Given the description of an element on the screen output the (x, y) to click on. 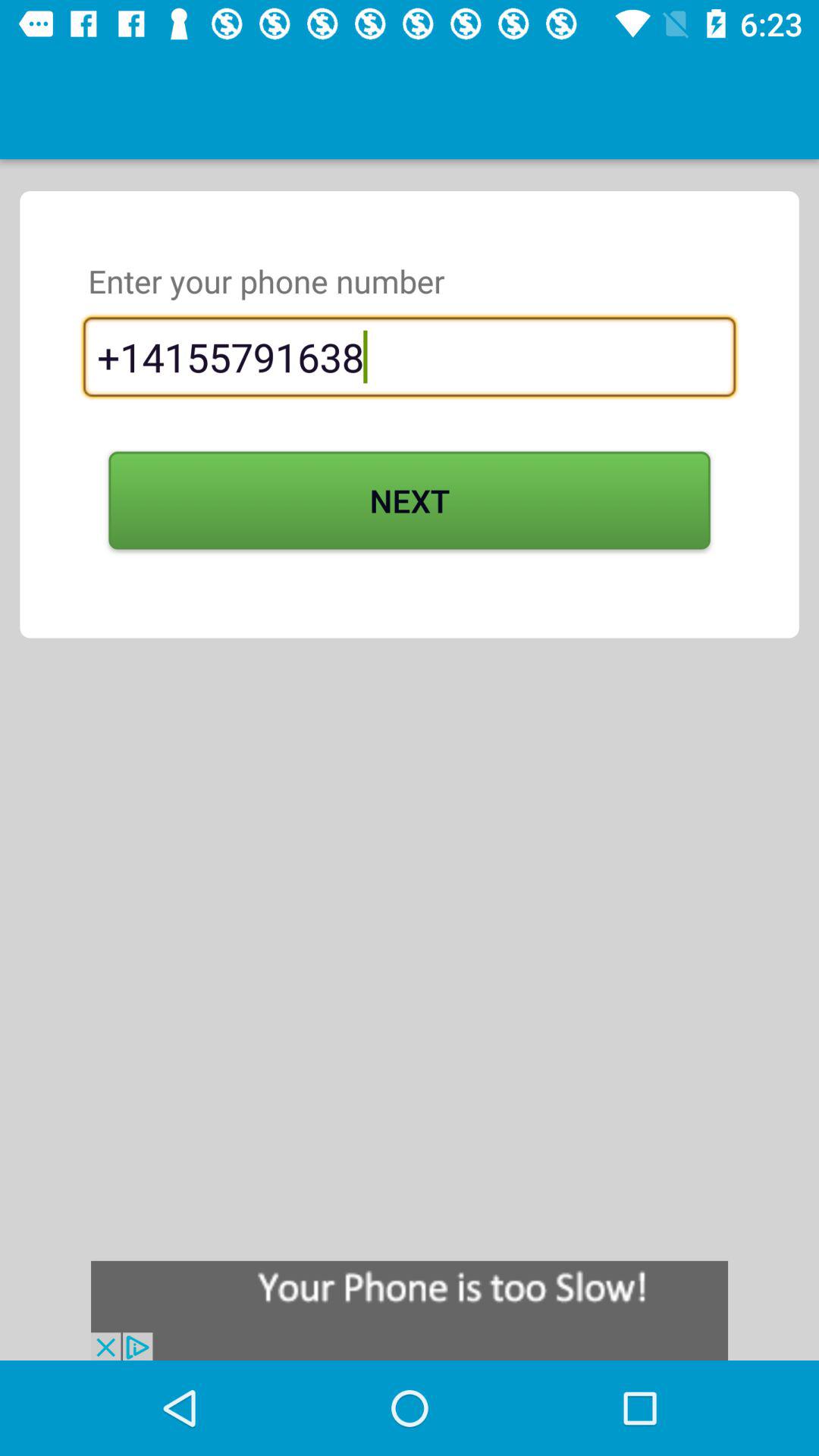
display advertisement (409, 1310)
